Given the description of an element on the screen output the (x, y) to click on. 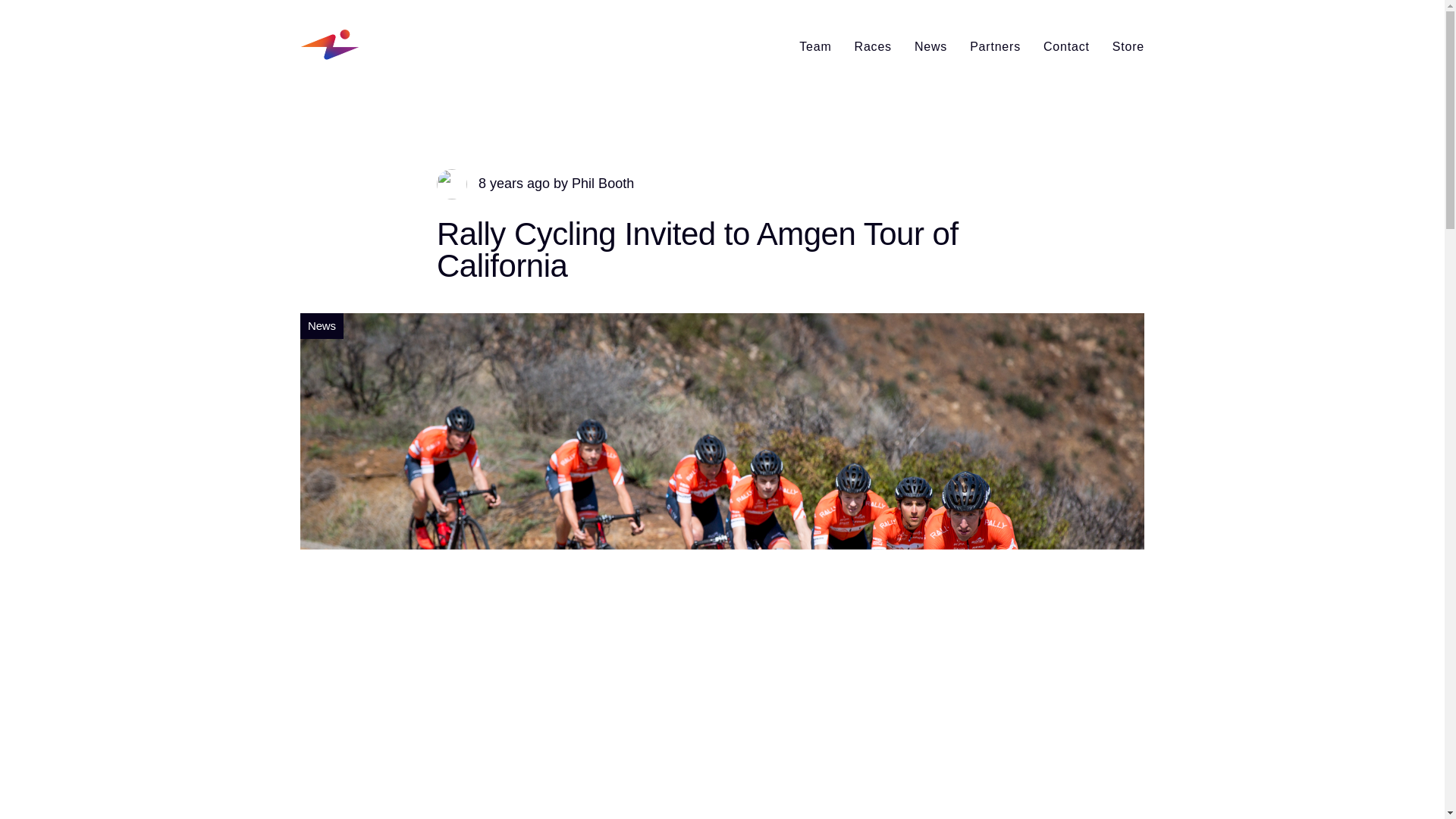
Contact (1066, 45)
News (930, 45)
Races (872, 45)
Rally Cycling (355, 44)
Partners (995, 45)
